Given the description of an element on the screen output the (x, y) to click on. 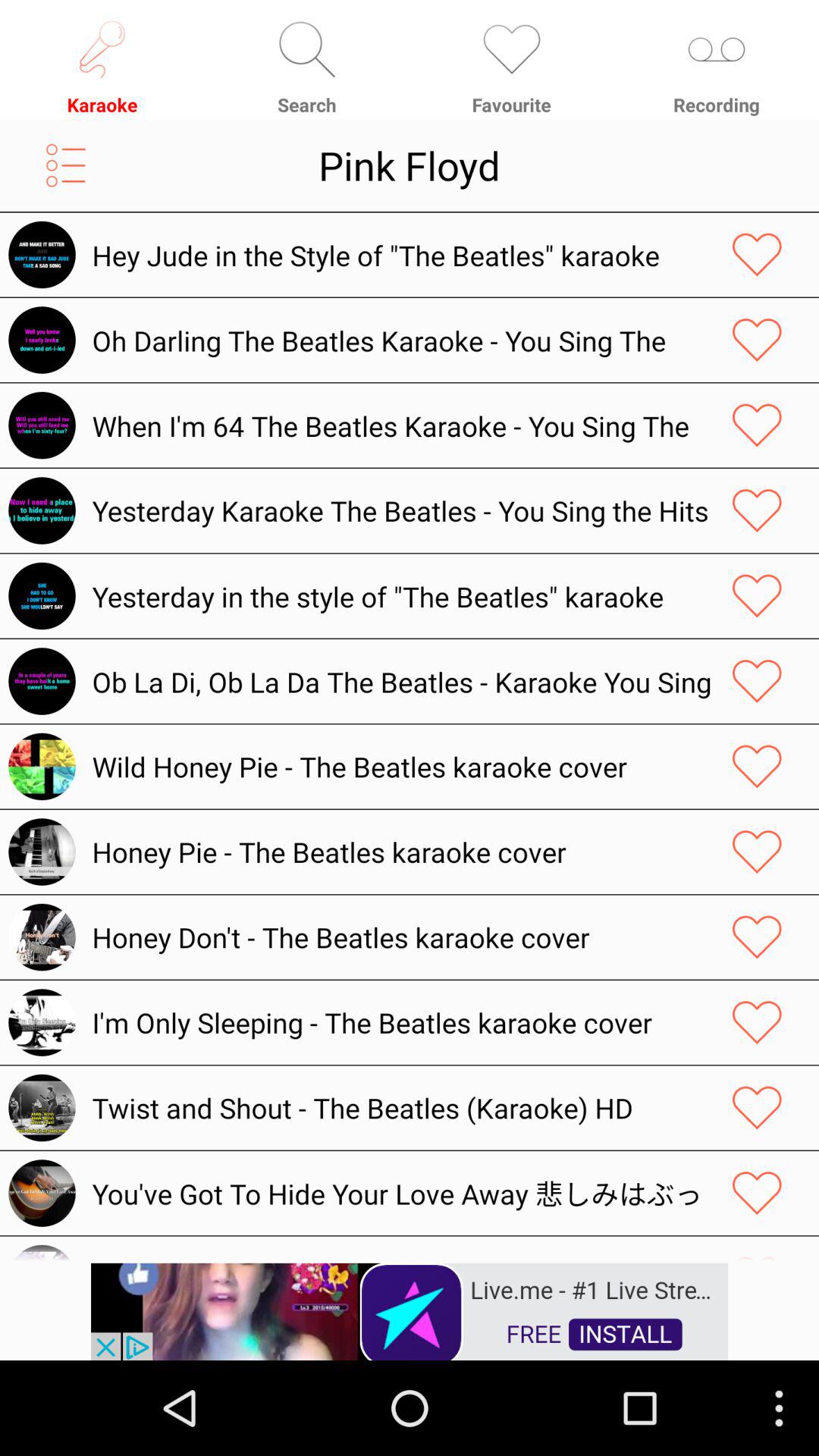
add to favorites (756, 1193)
